Given the description of an element on the screen output the (x, y) to click on. 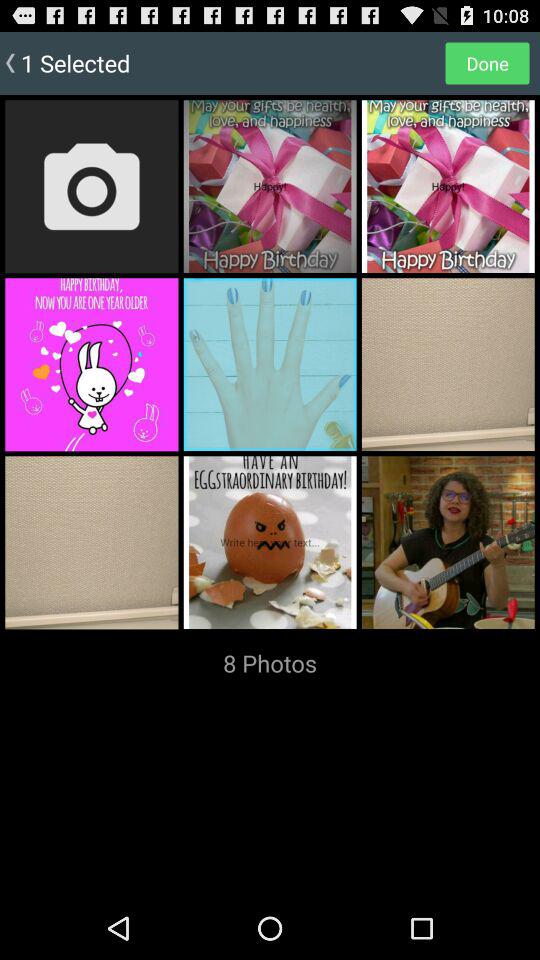
tap icon to the right of the 1 selected icon (487, 62)
